Given the description of an element on the screen output the (x, y) to click on. 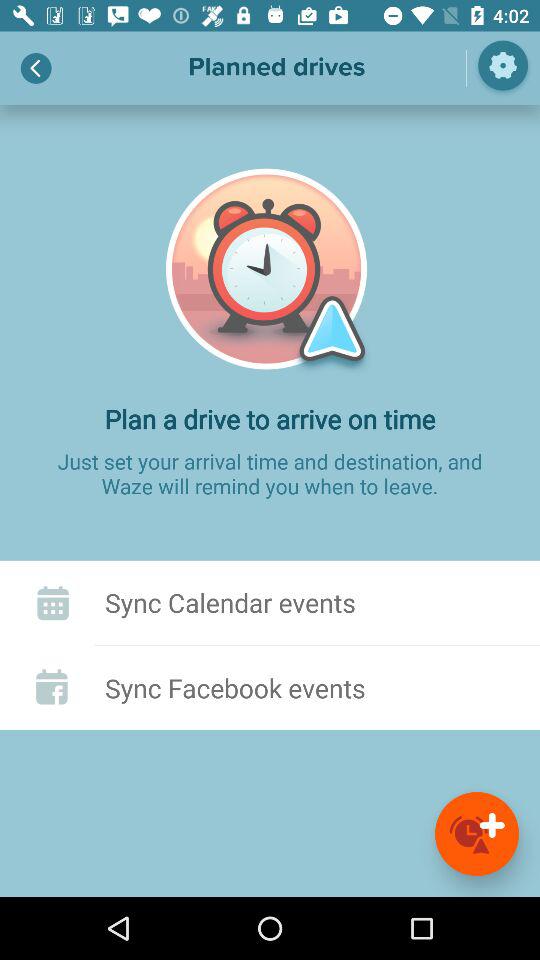
add alarm (477, 834)
